Given the description of an element on the screen output the (x, y) to click on. 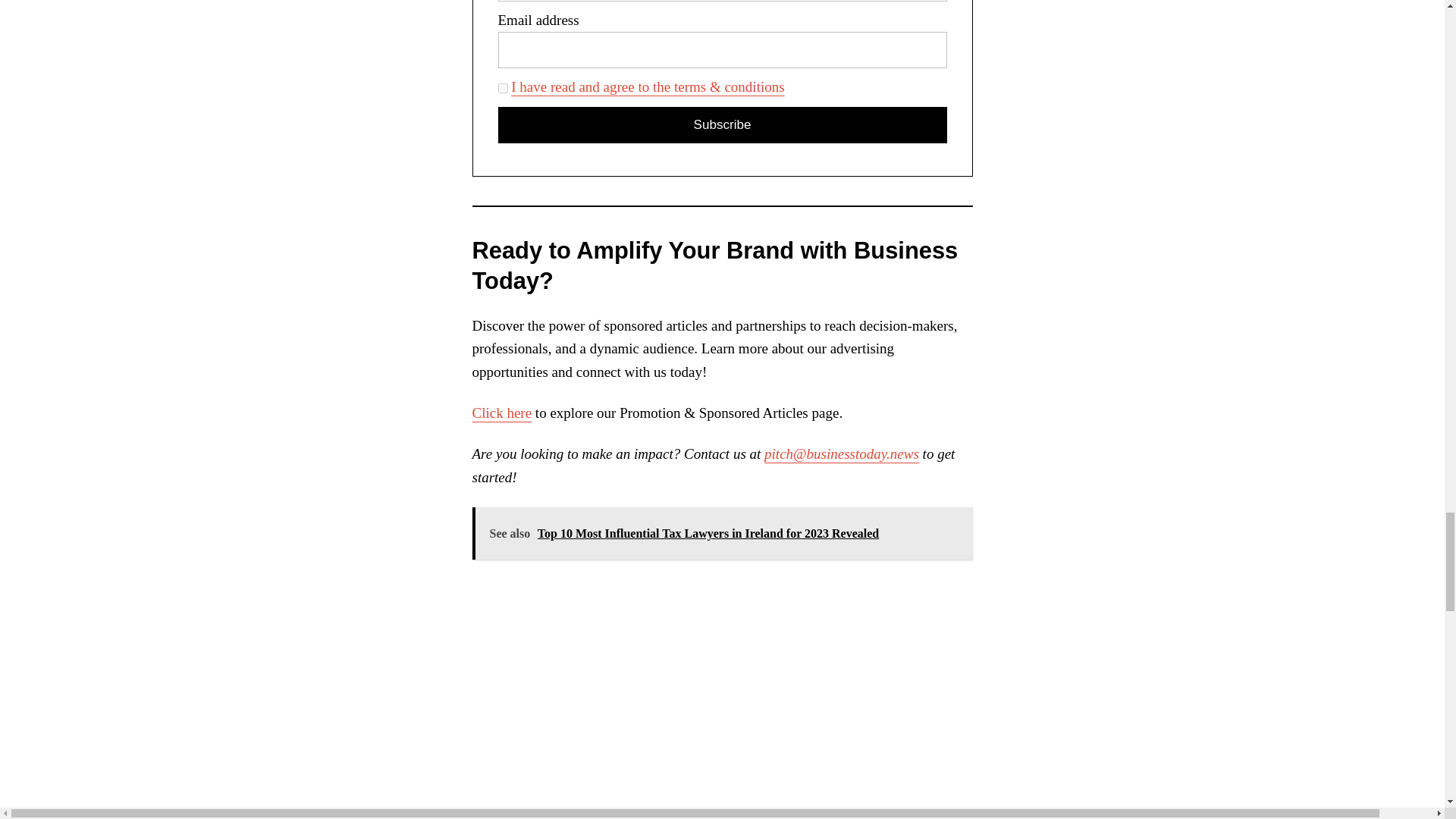
1 (501, 88)
Subscribe (721, 125)
